Given the description of an element on the screen output the (x, y) to click on. 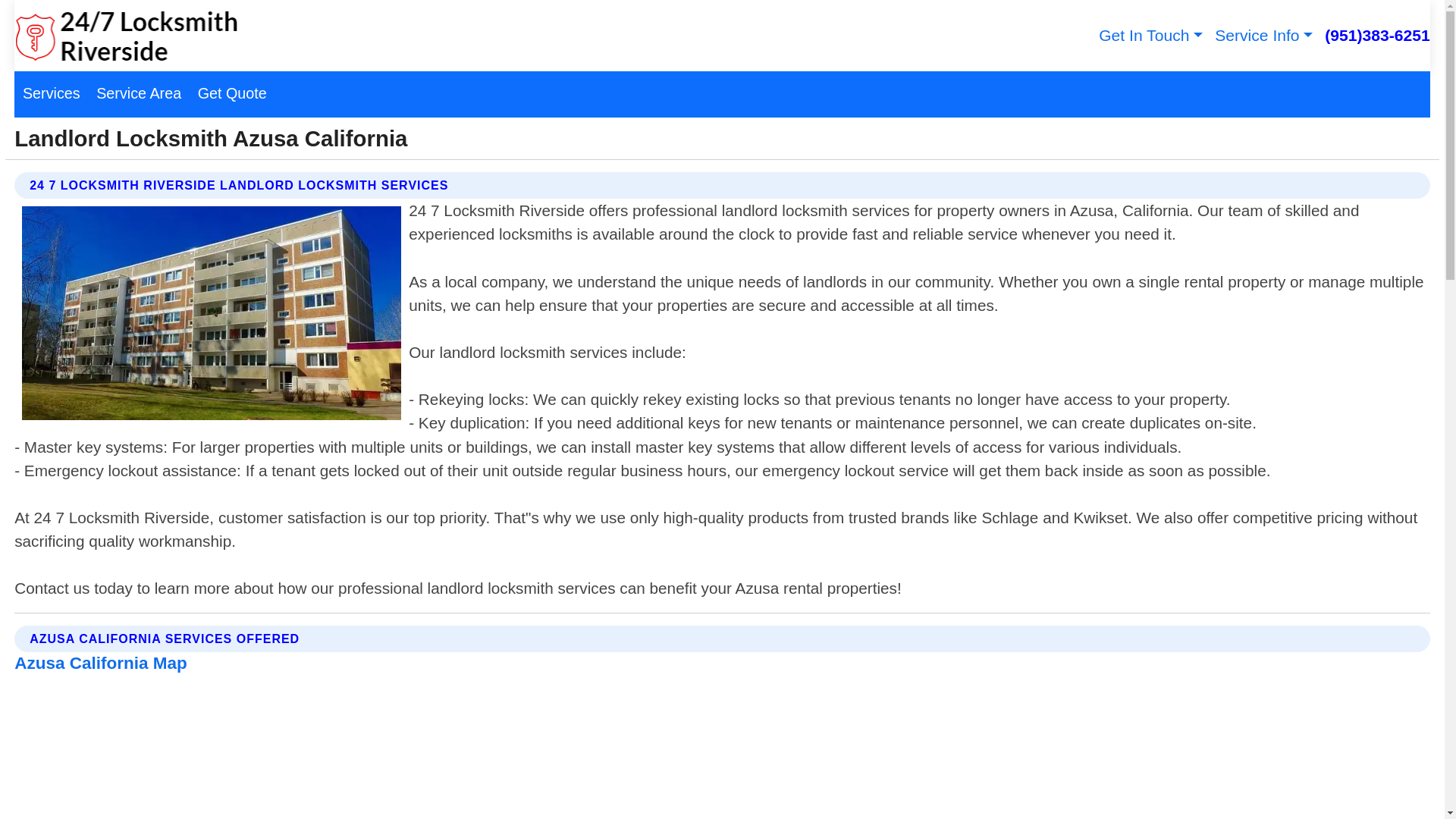
Service Info Element type: text (1261, 34)
(951)383-6251 Element type: text (1375, 34)
Services Element type: text (50, 94)
Get In Touch Element type: text (1148, 34)
Get Quote Element type: text (232, 94)
24 7 Locksmith Riverside Locksmith Services Element type: hover (126, 35)
Service Area Element type: text (137, 94)
24 7 Locksmith Riverside Logo Element type: hover (126, 35)
Azusa California Map Element type: text (100, 662)
